Given the description of an element on the screen output the (x, y) to click on. 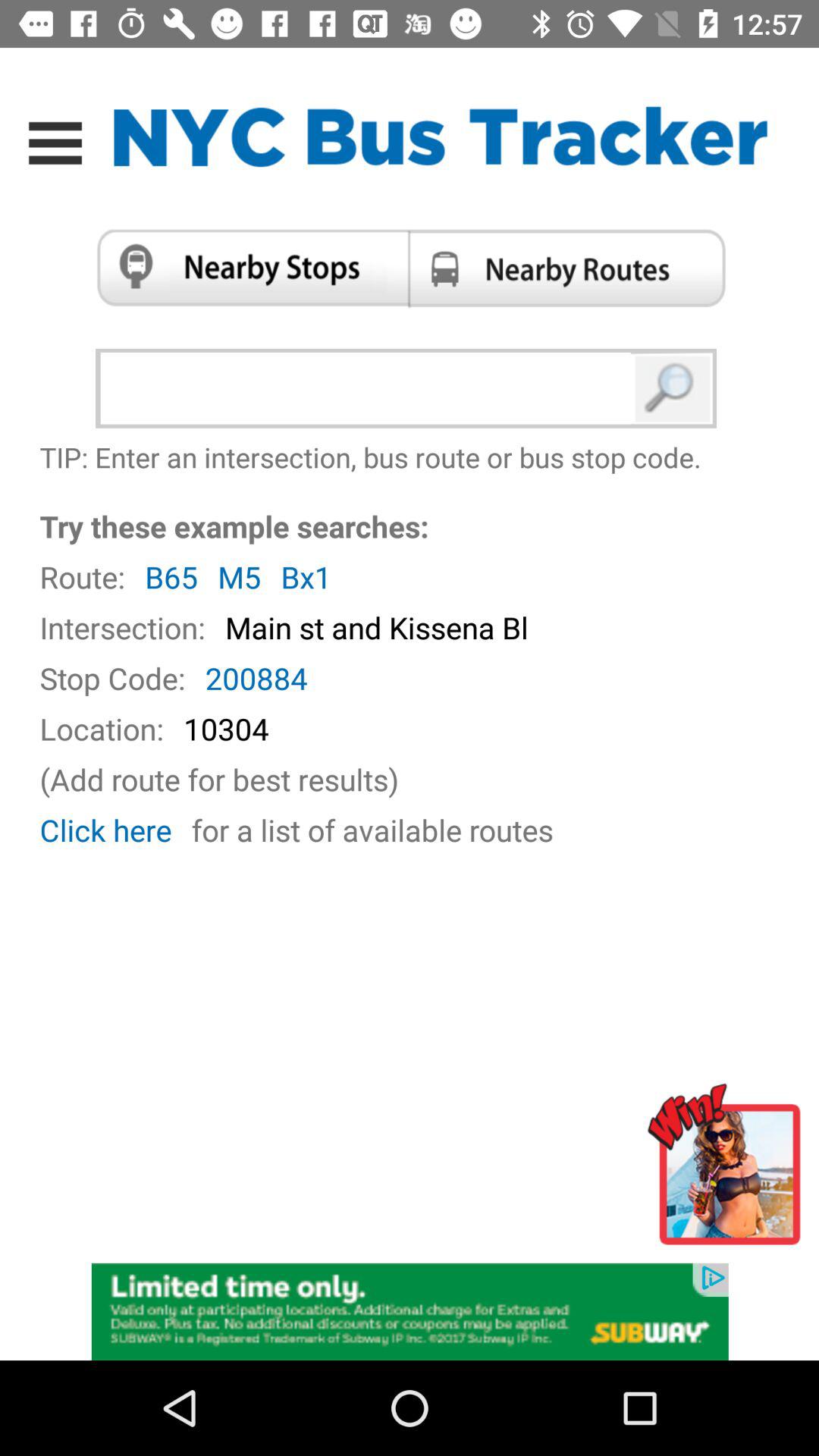
nearby stops (246, 267)
